Given the description of an element on the screen output the (x, y) to click on. 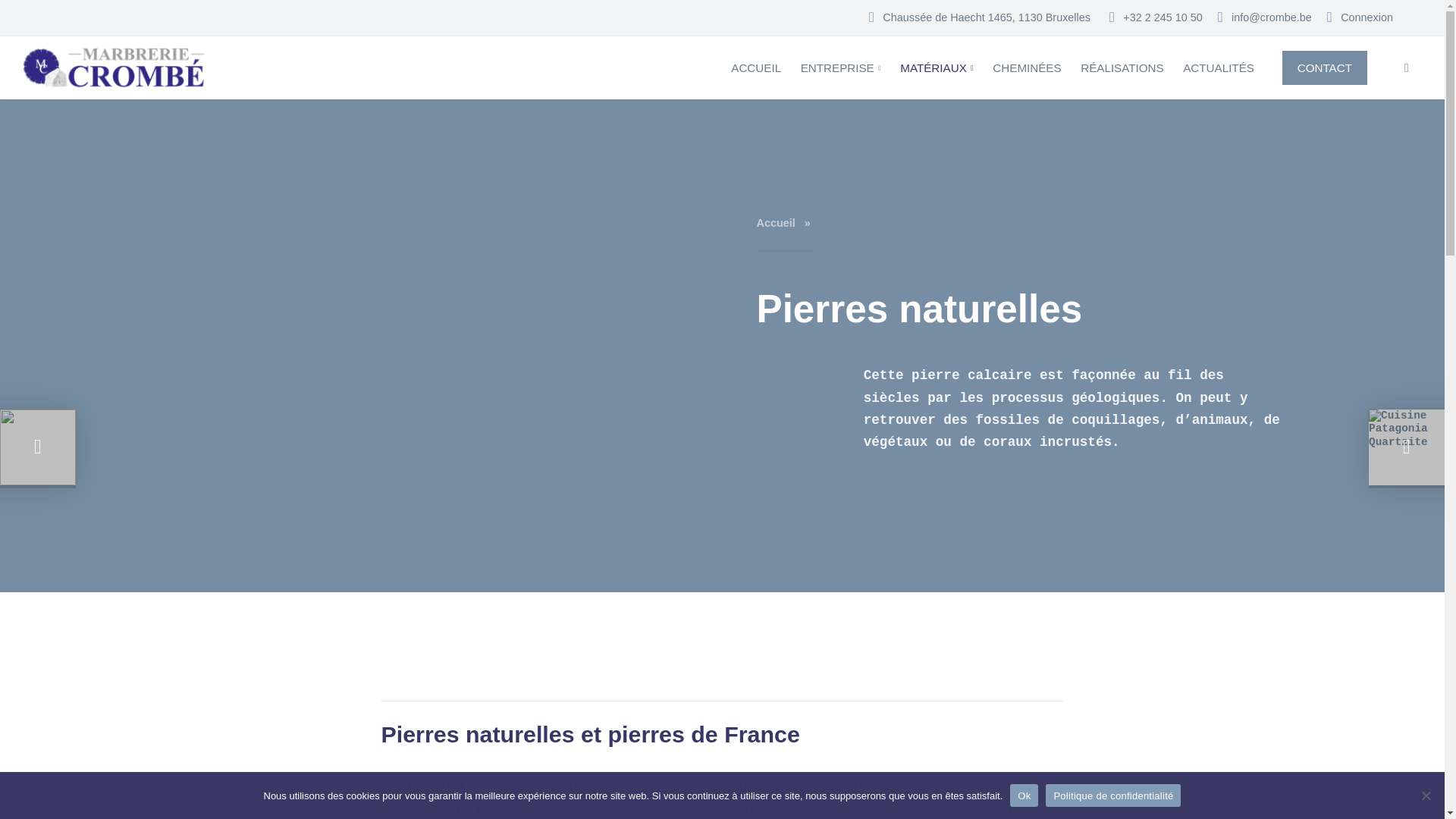
Connexion Element type: text (1360, 17)
Ok Element type: text (1024, 795)
ACCUEIL Element type: text (755, 67)
Accueil Element type: text (778, 222)
info@crombe.be Element type: text (1264, 17)
CONTACT Element type: text (1324, 67)
+32 2 245 10 50 Element type: text (1155, 17)
Non Element type: hover (1425, 795)
ENTREPRISE Element type: text (840, 67)
